Given the description of an element on the screen output the (x, y) to click on. 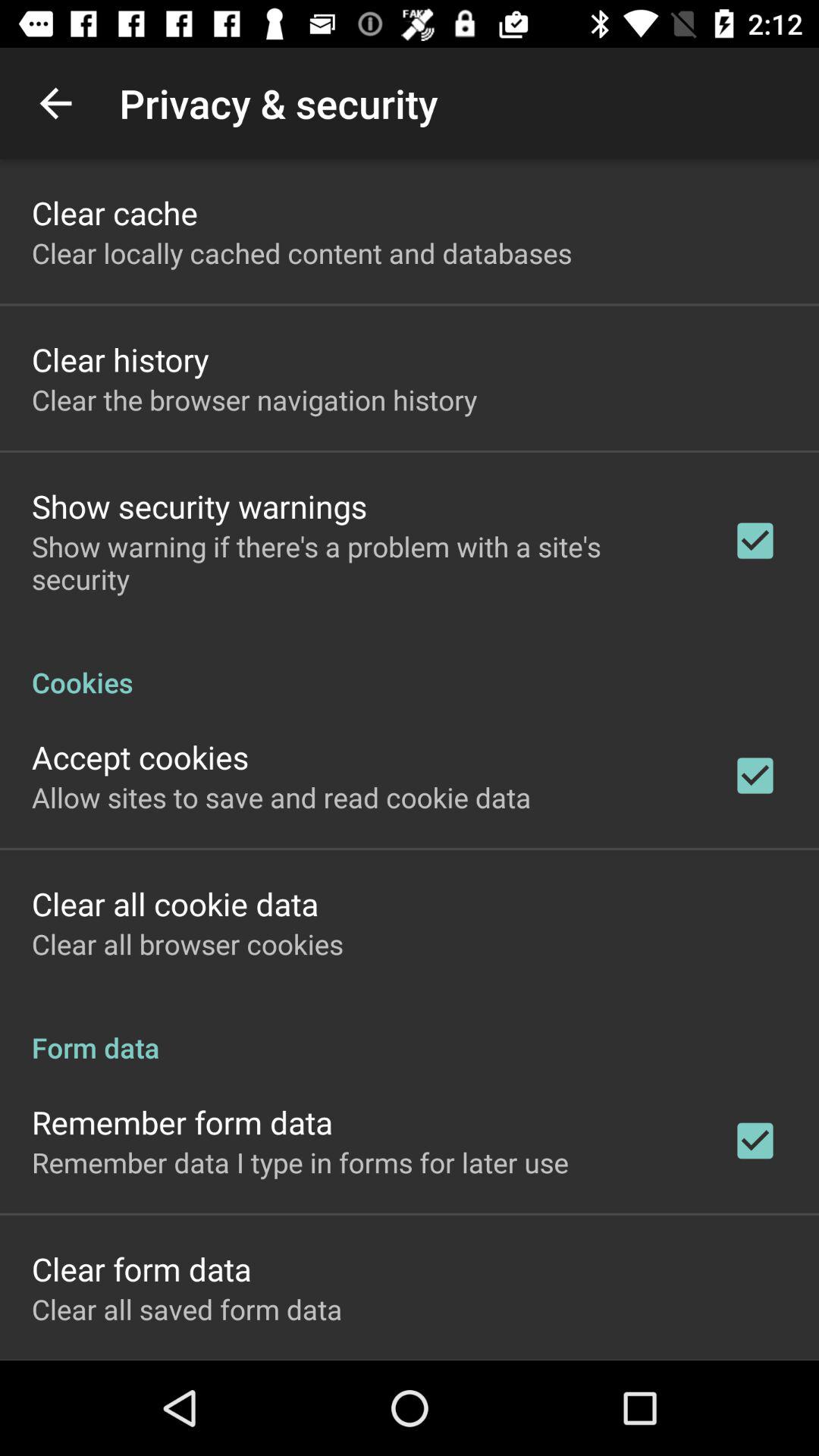
launch the icon above the cookies icon (361, 562)
